Given the description of an element on the screen output the (x, y) to click on. 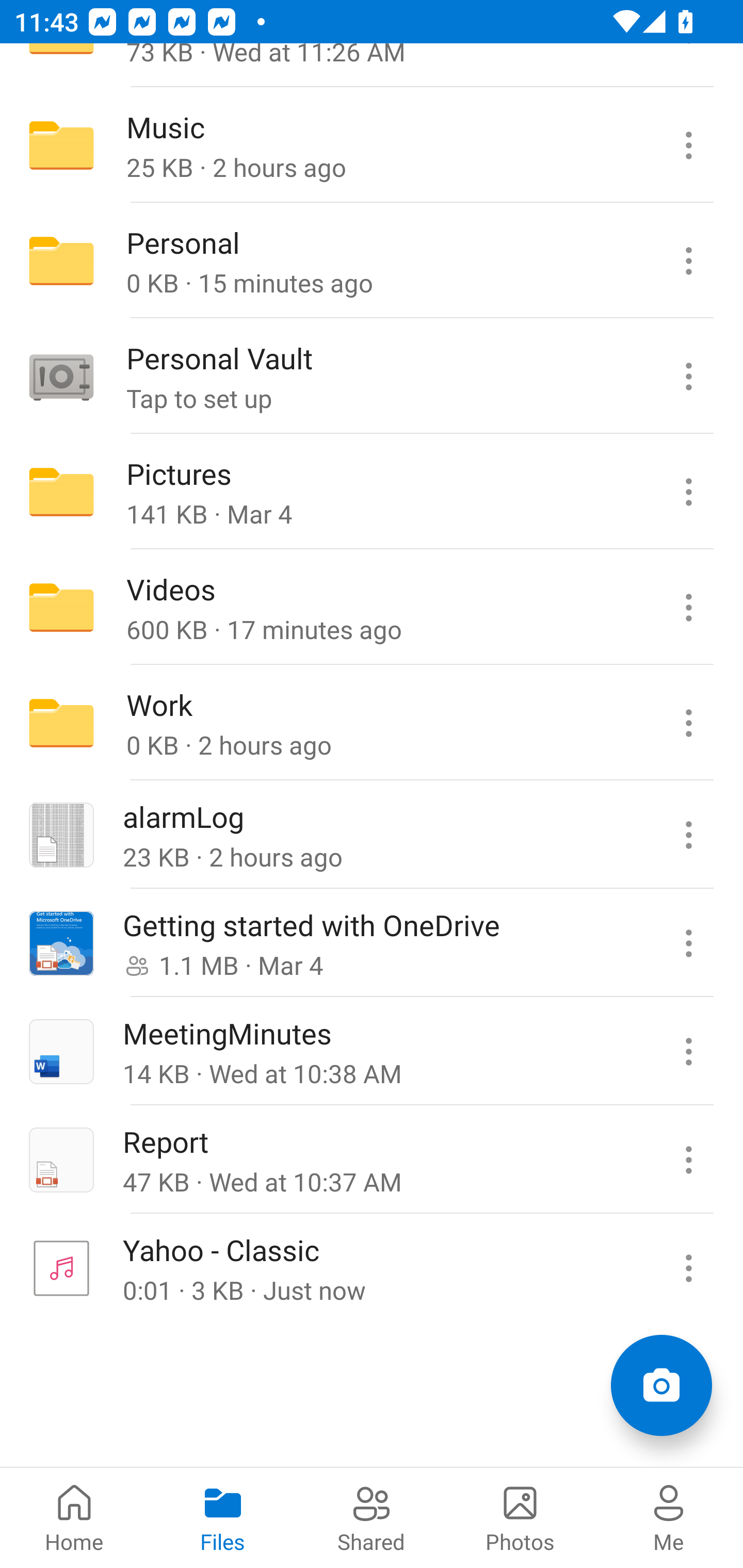
Folder Music 25 KB · 2 hours ago Music commands (371, 145)
Music commands (688, 145)
Personal commands (688, 260)
Personal Vault commands (688, 376)
Folder Pictures 141 KB · Mar 4 Pictures commands (371, 492)
Pictures commands (688, 492)
Videos commands (688, 607)
Folder Work 0 KB · 2 hours ago Work commands (371, 722)
Work commands (688, 722)
alarmLog commands (688, 834)
Getting started with OneDrive commands (688, 943)
MeetingMinutes commands (688, 1051)
Report commands (688, 1159)
Yahoo - Classic commands (688, 1267)
Add items Scan (660, 1385)
Home pivot Home (74, 1517)
Shared pivot Shared (371, 1517)
Photos pivot Photos (519, 1517)
Me pivot Me (668, 1517)
